Given the description of an element on the screen output the (x, y) to click on. 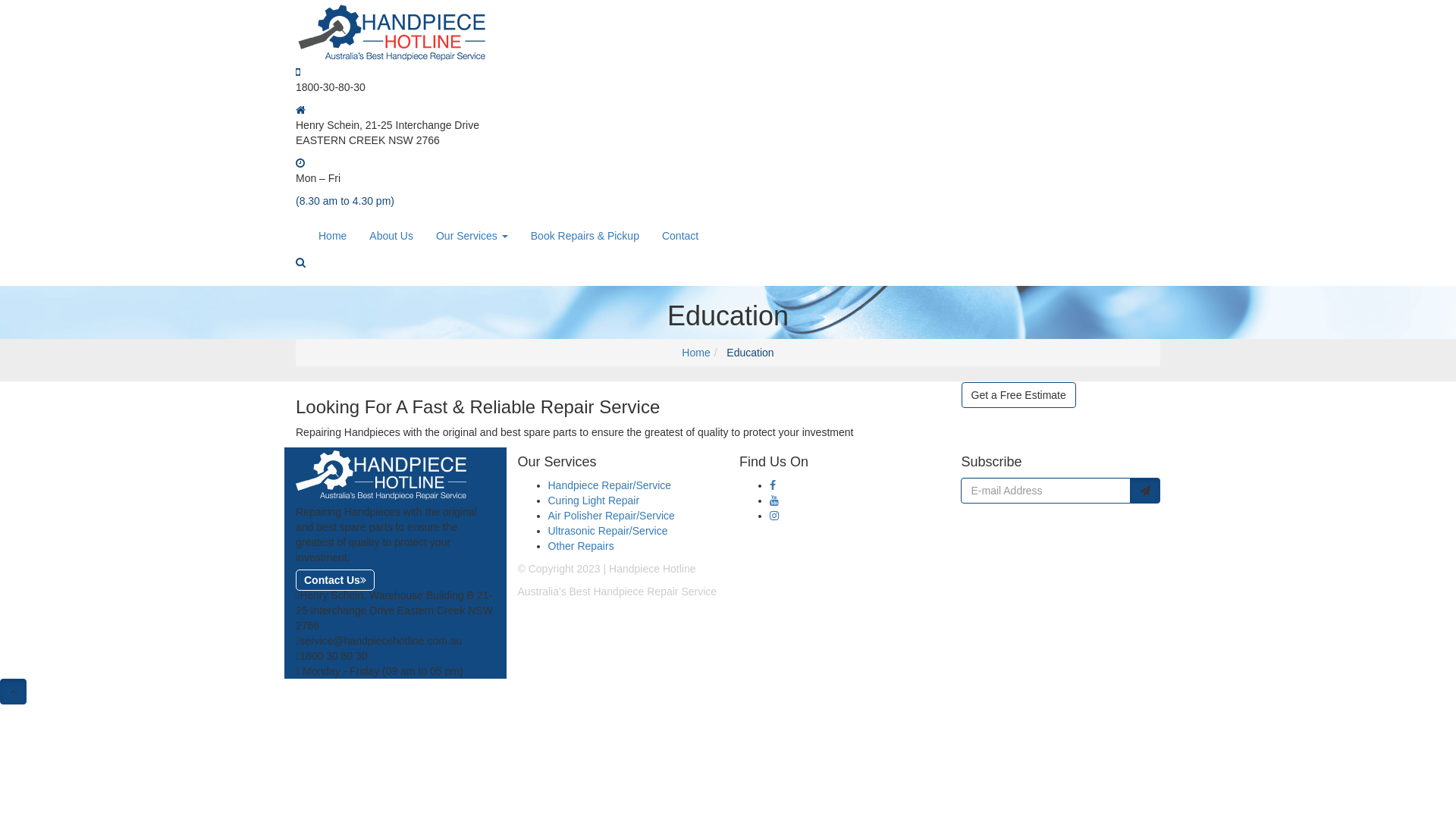
Contact Element type: text (679, 235)
Handpiece Repair/Service Element type: text (609, 485)
Curing Light Repair Element type: text (593, 500)
Other Repairs Element type: text (580, 545)
Home Element type: text (695, 352)
Home Element type: text (332, 235)
Ultrasonic Repair/Service Element type: text (607, 530)
About Us Element type: text (390, 235)
Air Polisher Repair/Service Element type: text (610, 515)
Our Services Element type: text (471, 235)
Book Repairs & Pickup Element type: text (584, 235)
Get a Free Estimate Element type: text (1018, 394)
Contact Us Element type: text (334, 579)
